Given the description of an element on the screen output the (x, y) to click on. 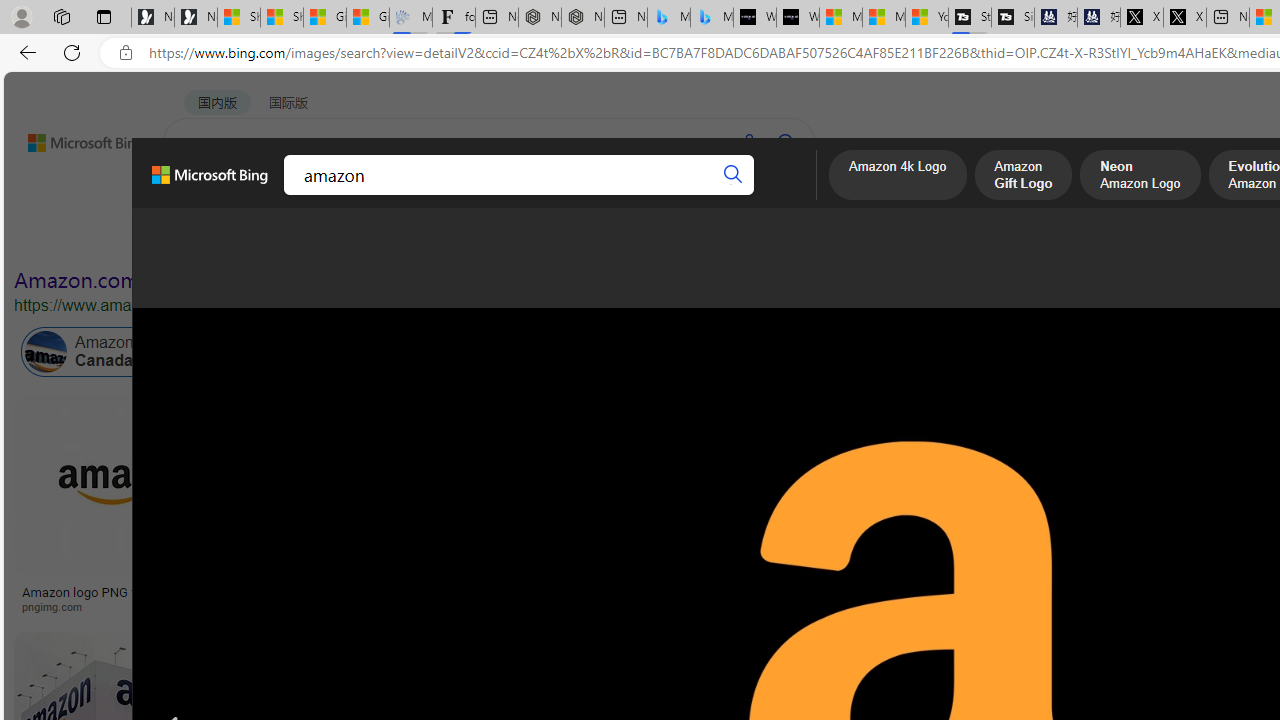
Amazon Animals (749, 351)
Newsletter Sign Up (196, 17)
WEB (201, 195)
pngimg.com (123, 606)
usatoday.com (545, 605)
Microsoft Bing Travel - Stays in Bangkok, Bangkok, Thailand (668, 17)
Nordace - #1 Japanese Best-Seller - Siena Smart Backpack (582, 17)
Amazon Kids (464, 351)
Dropdown Menu (779, 195)
Amazon Prime Online (241, 351)
